Given the description of an element on the screen output the (x, y) to click on. 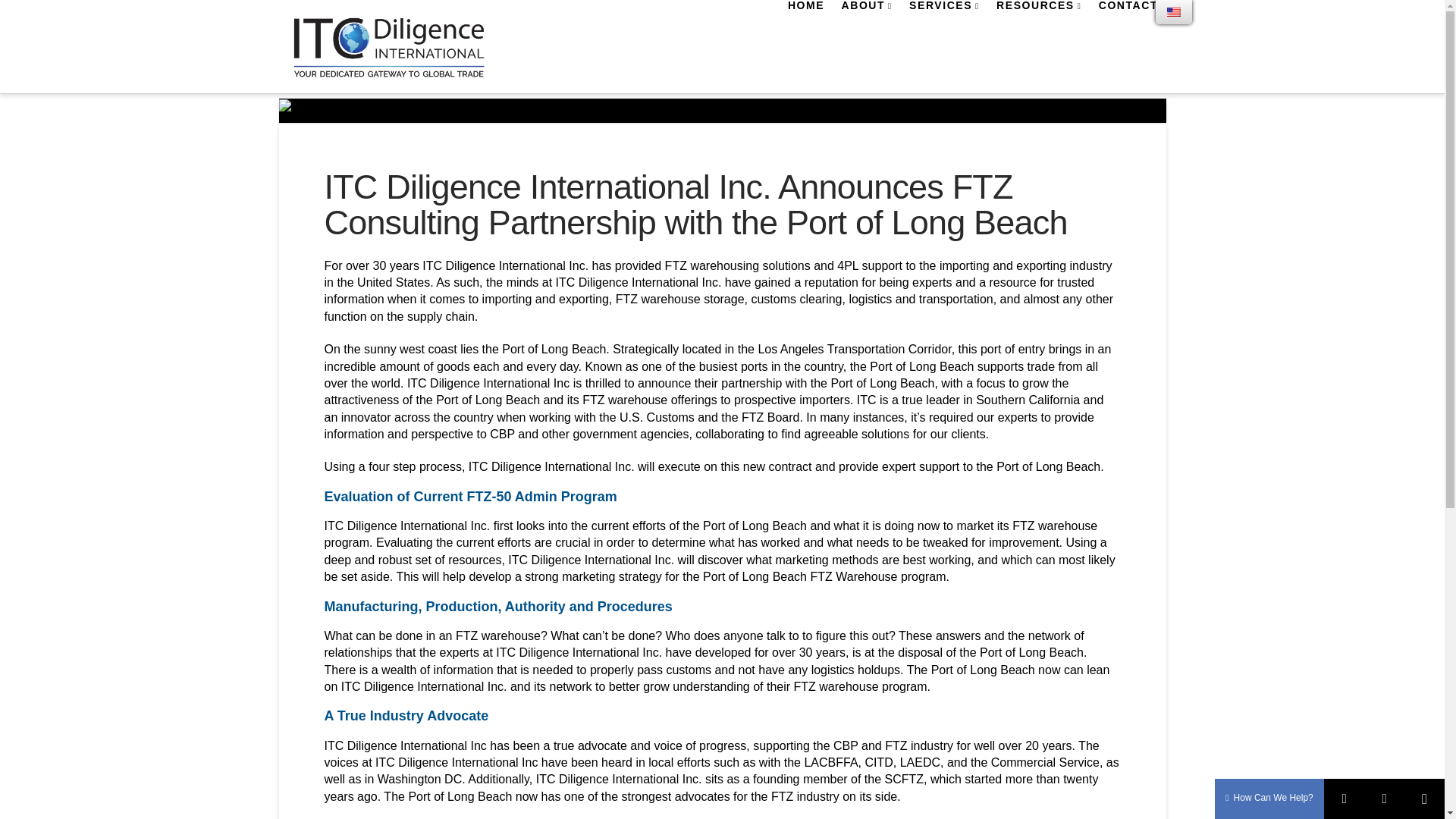
SERVICES (943, 33)
English (1173, 11)
ABOUT (866, 33)
RESOURCES (1038, 33)
CONTACT (1127, 33)
